Given the description of an element on the screen output the (x, y) to click on. 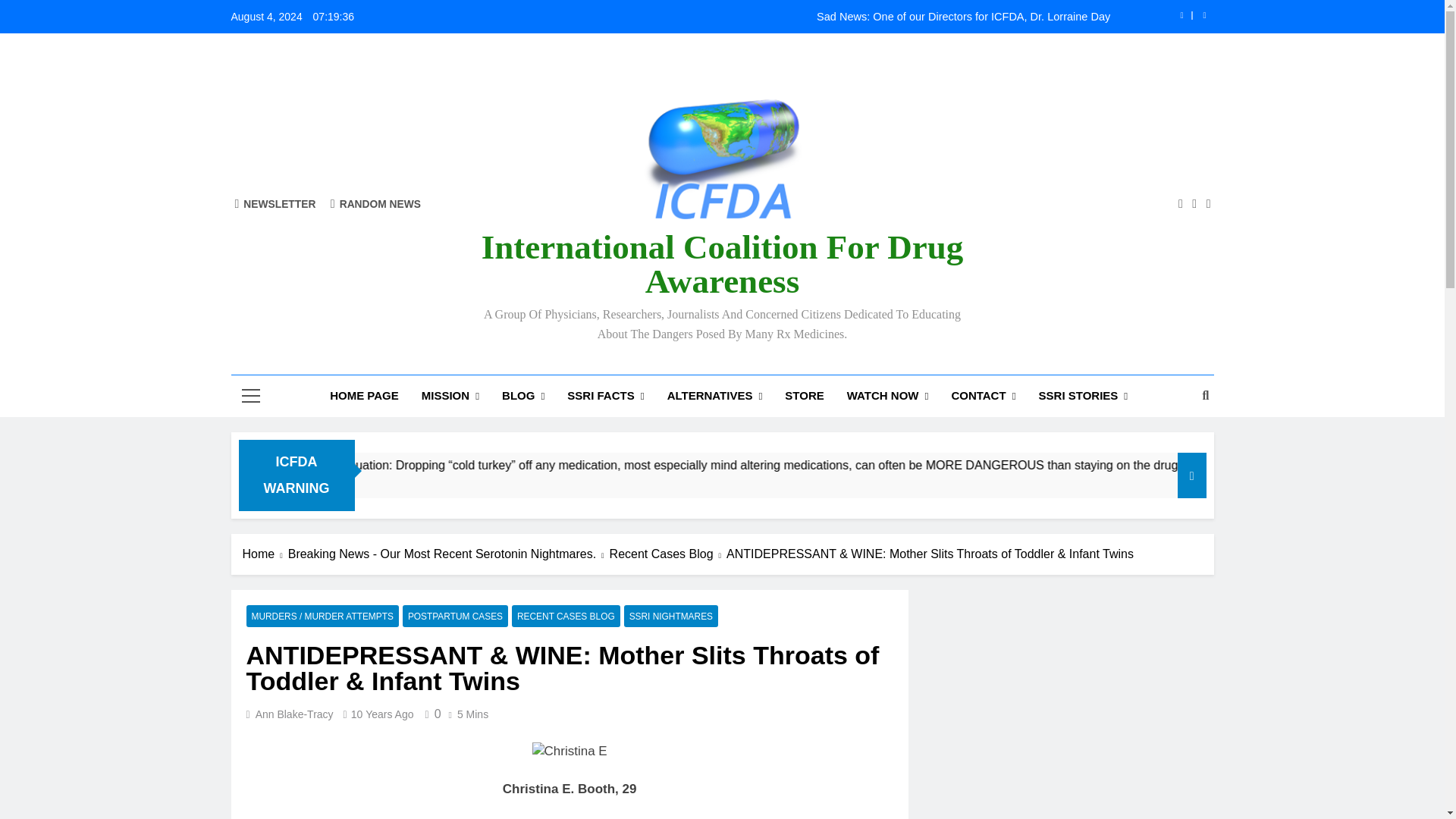
MISSION (450, 395)
RANDOM NEWS (375, 203)
Sad News: One of our Directors for ICFDA, Dr. Lorraine Day (817, 16)
SSRI FACTS (605, 395)
Sad News: One of our Directors for ICFDA, Dr. Lorraine Day (817, 16)
ALTERNATIVES (715, 395)
BLOG (523, 395)
HOME PAGE (364, 395)
International Coalition For Drug Awareness (721, 264)
NEWSLETTER (274, 203)
